Given the description of an element on the screen output the (x, y) to click on. 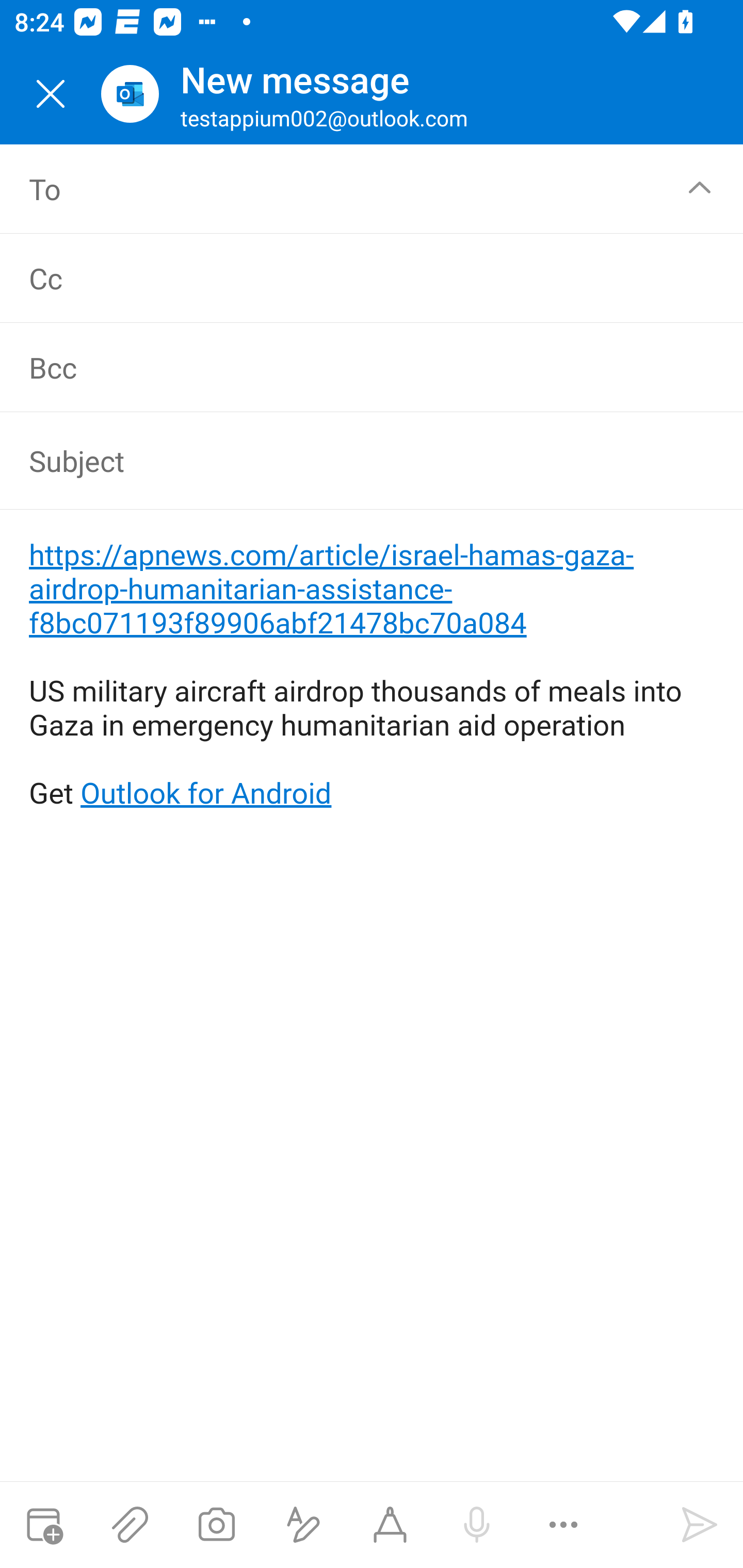
Close (50, 93)
Subject (342, 460)
Attach meeting (43, 1524)
Attach files (129, 1524)
Take a photo (216, 1524)
Show formatting options (303, 1524)
Start Ink compose (389, 1524)
More options (563, 1524)
Send (699, 1524)
